Given the description of an element on the screen output the (x, y) to click on. 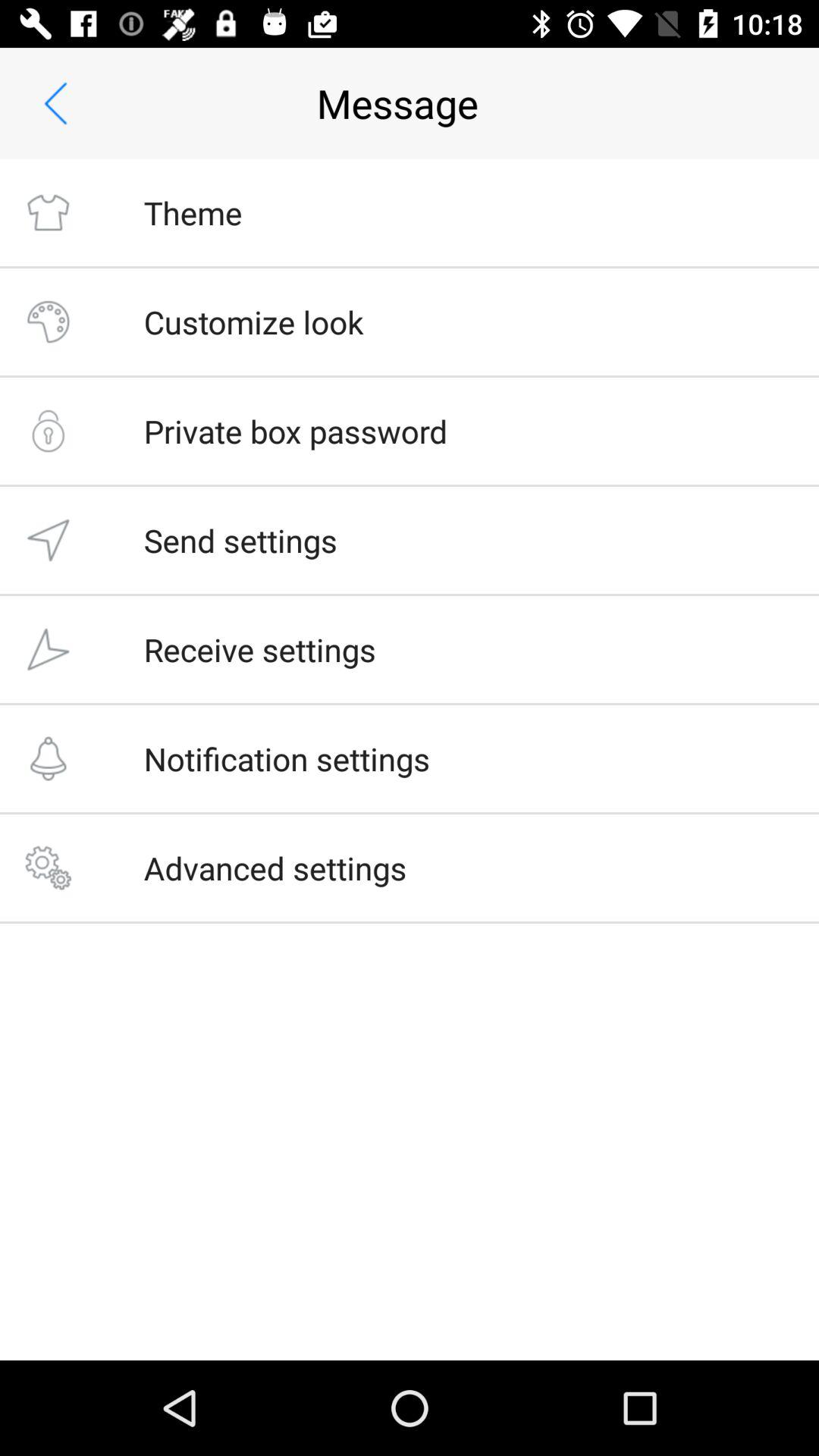
jump until the theme (192, 212)
